Given the description of an element on the screen output the (x, y) to click on. 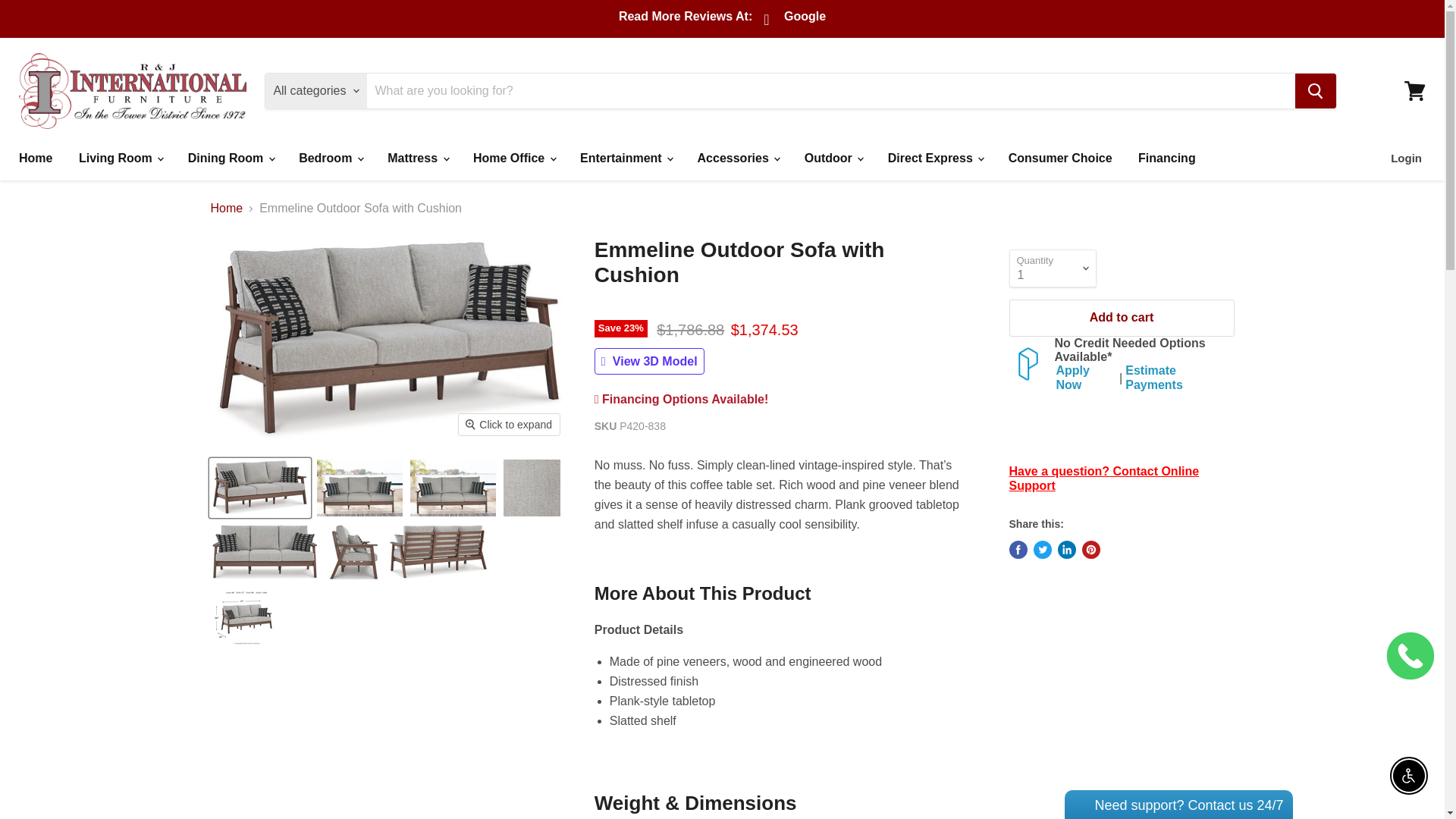
Home (35, 158)
Google (796, 20)
Living Room (119, 158)
Dining Room (229, 158)
Read More Reviews At: (685, 18)
View cart (1414, 90)
